Given the description of an element on the screen output the (x, y) to click on. 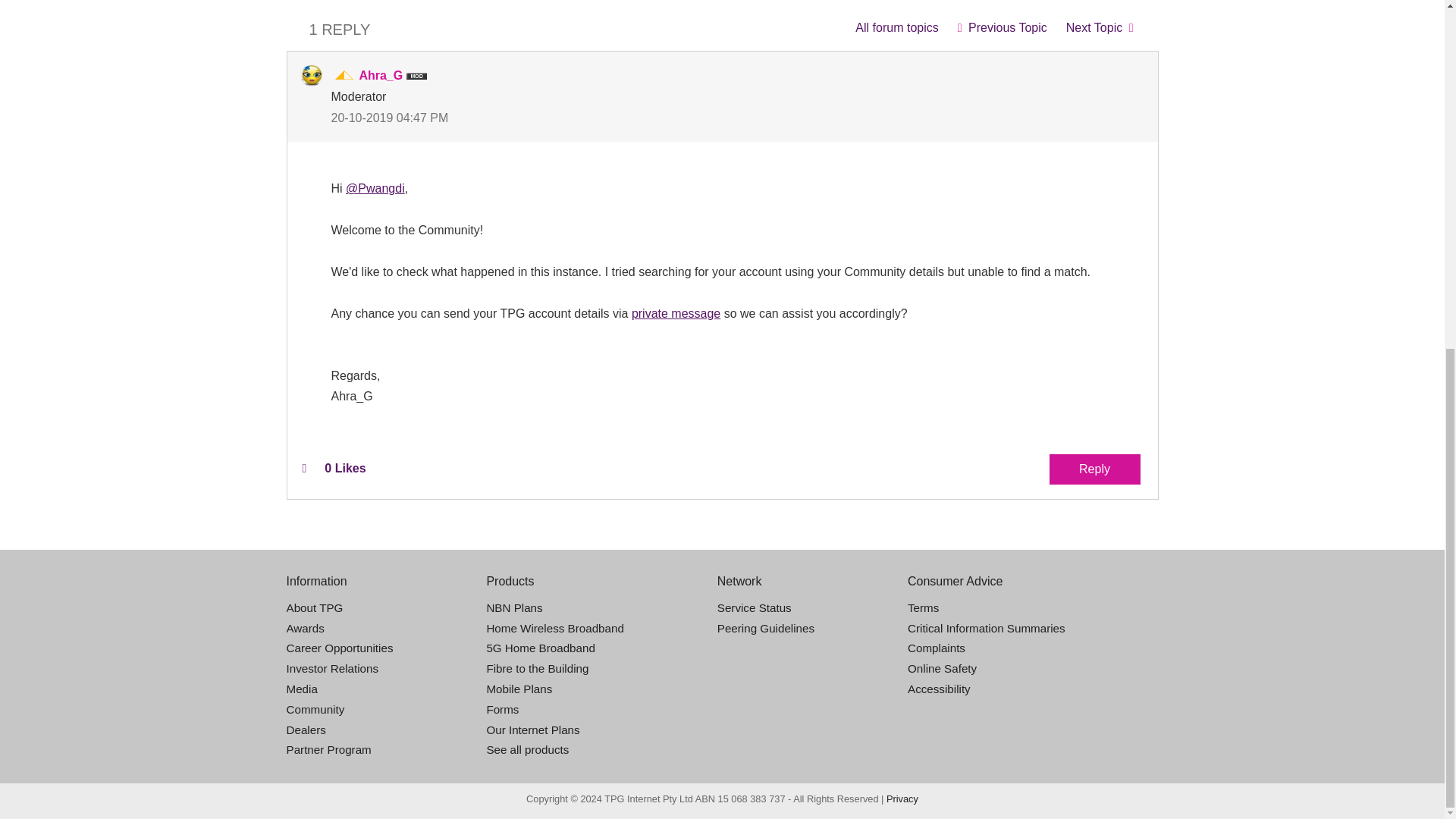
NBN Installation (896, 27)
Moderator (344, 75)
help from TPG please, customer Account Number: xxxxxxx (1099, 27)
Address Mismatch (1002, 27)
